Given the description of an element on the screen output the (x, y) to click on. 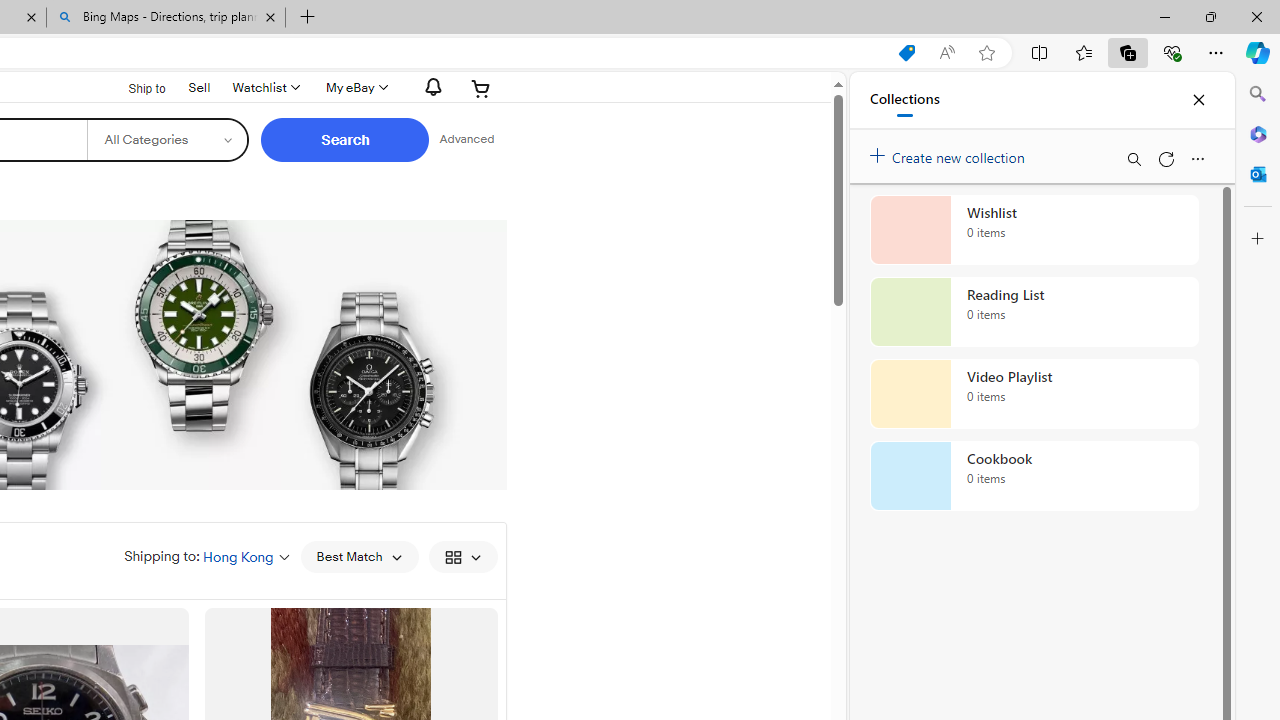
Advanced Search (466, 139)
Expand Cart (481, 88)
Select a category for search (167, 139)
WatchlistExpand Watch List (264, 88)
Reading List collection, 0 items (1034, 312)
Shipping to: Hong Kong (207, 556)
Ship to (134, 86)
This site has coupons! Shopping in Microsoft Edge, 20 (906, 53)
Cookbook collection, 0 items (1034, 475)
